Given the description of an element on the screen output the (x, y) to click on. 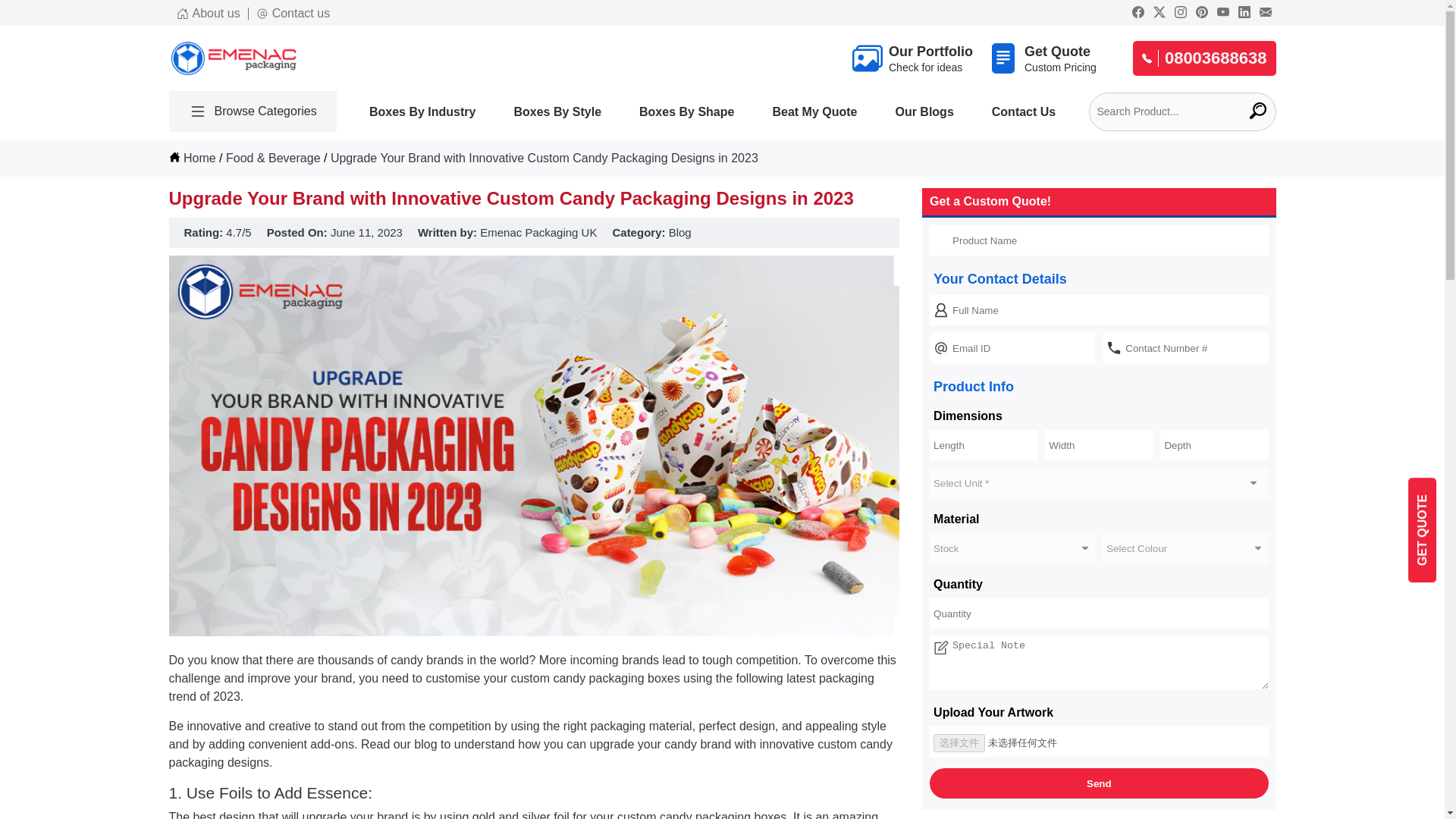
Boxes By Industry  (422, 111)
instagram (1179, 13)
linkedin (1243, 13)
08003688638 (1204, 58)
Contact us (293, 13)
Boxes By Style   (557, 111)
envelope (911, 58)
Twitter (1265, 13)
Send (1158, 13)
